Given the description of an element on the screen output the (x, y) to click on. 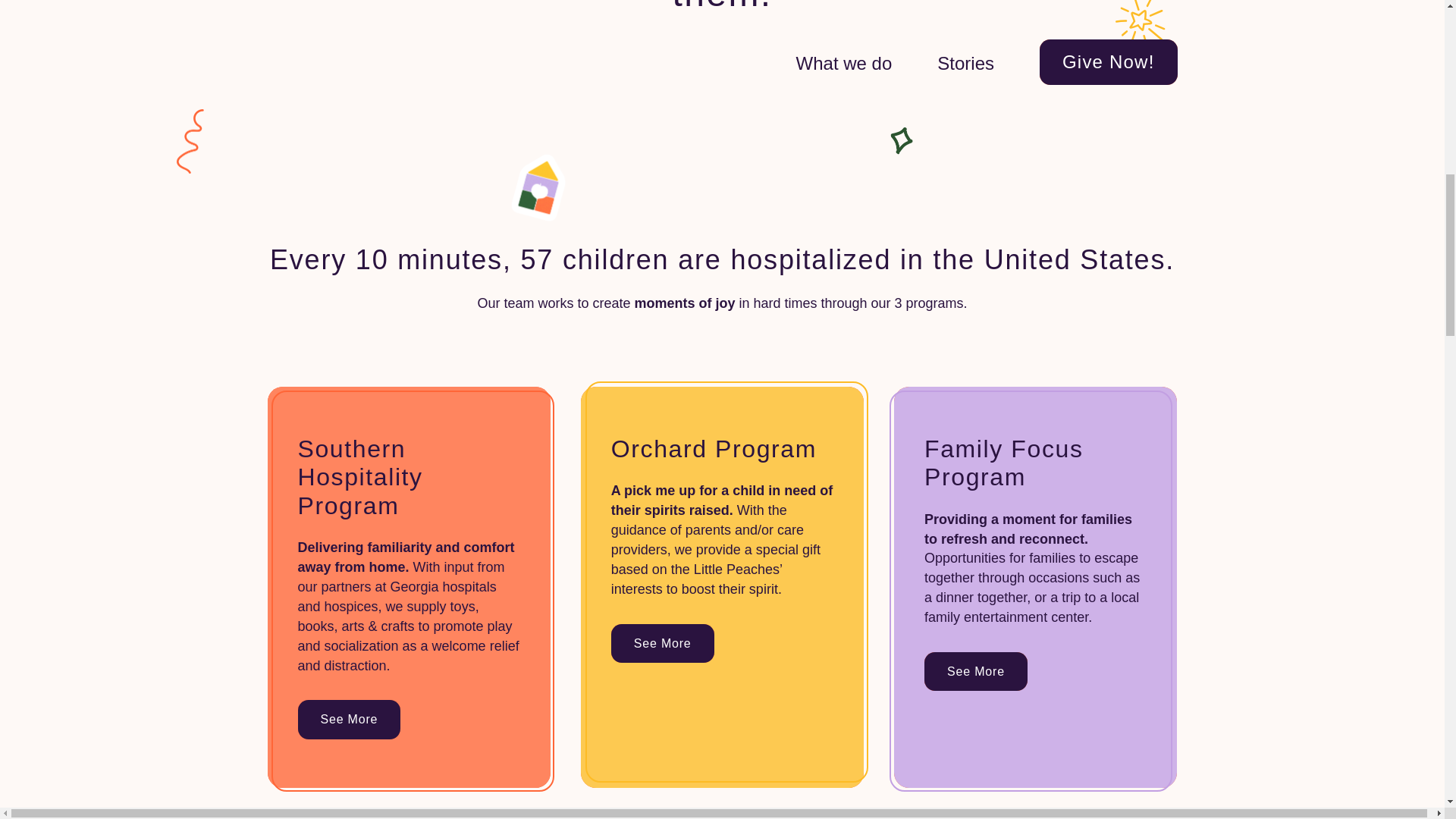
See More (975, 671)
See More (348, 719)
See More (662, 643)
